Given the description of an element on the screen output the (x, y) to click on. 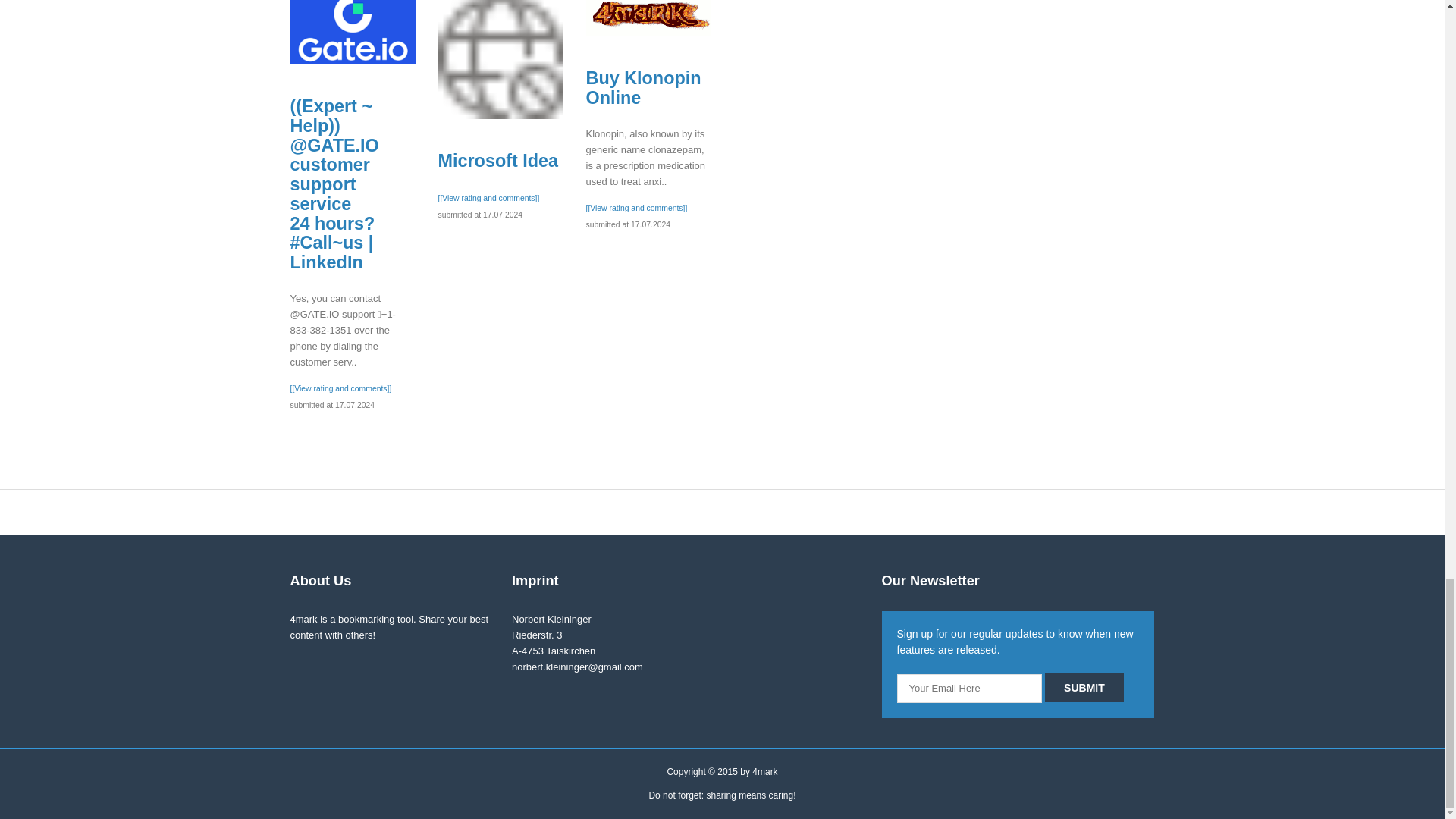
Submit (1084, 687)
Email (969, 688)
Buy Klonopin Online (500, 59)
